Given the description of an element on the screen output the (x, y) to click on. 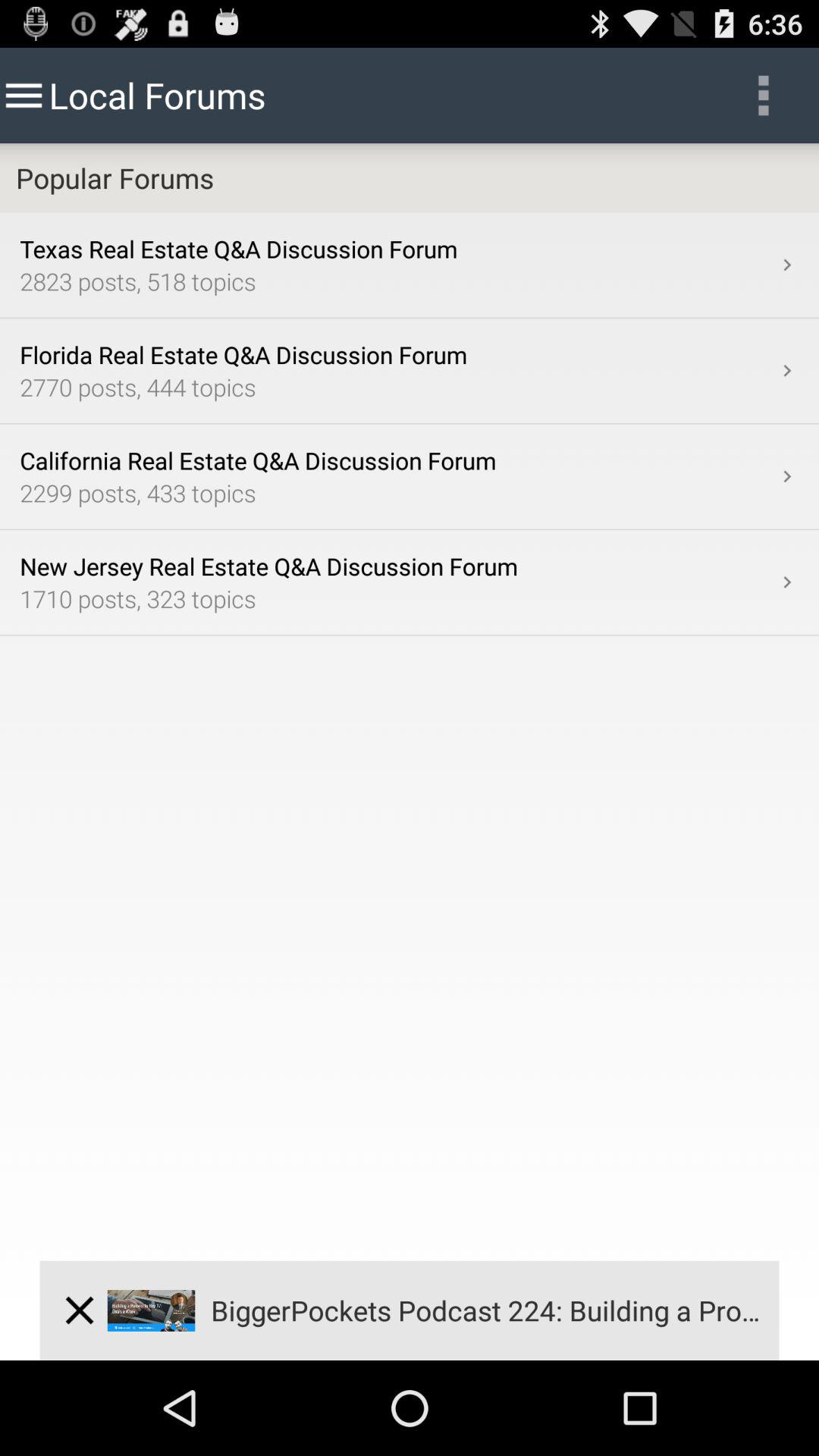
turn on the app next to california real estate (787, 476)
